Given the description of an element on the screen output the (x, y) to click on. 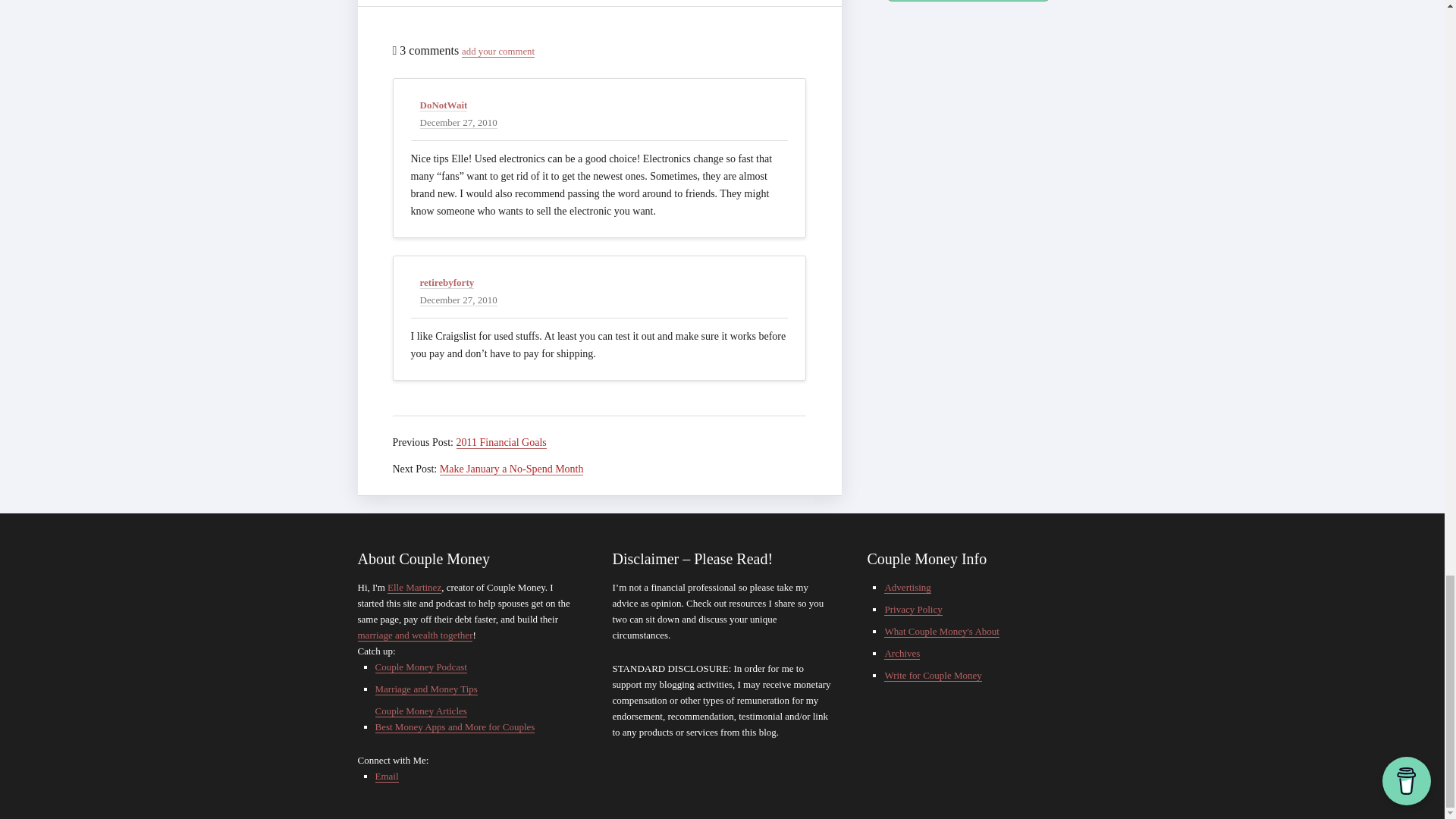
add your comment (497, 51)
retirebyforty (447, 282)
December 27, 2010 (458, 122)
December 27, 2010 (458, 300)
DoNotWait (443, 105)
